Given the description of an element on the screen output the (x, y) to click on. 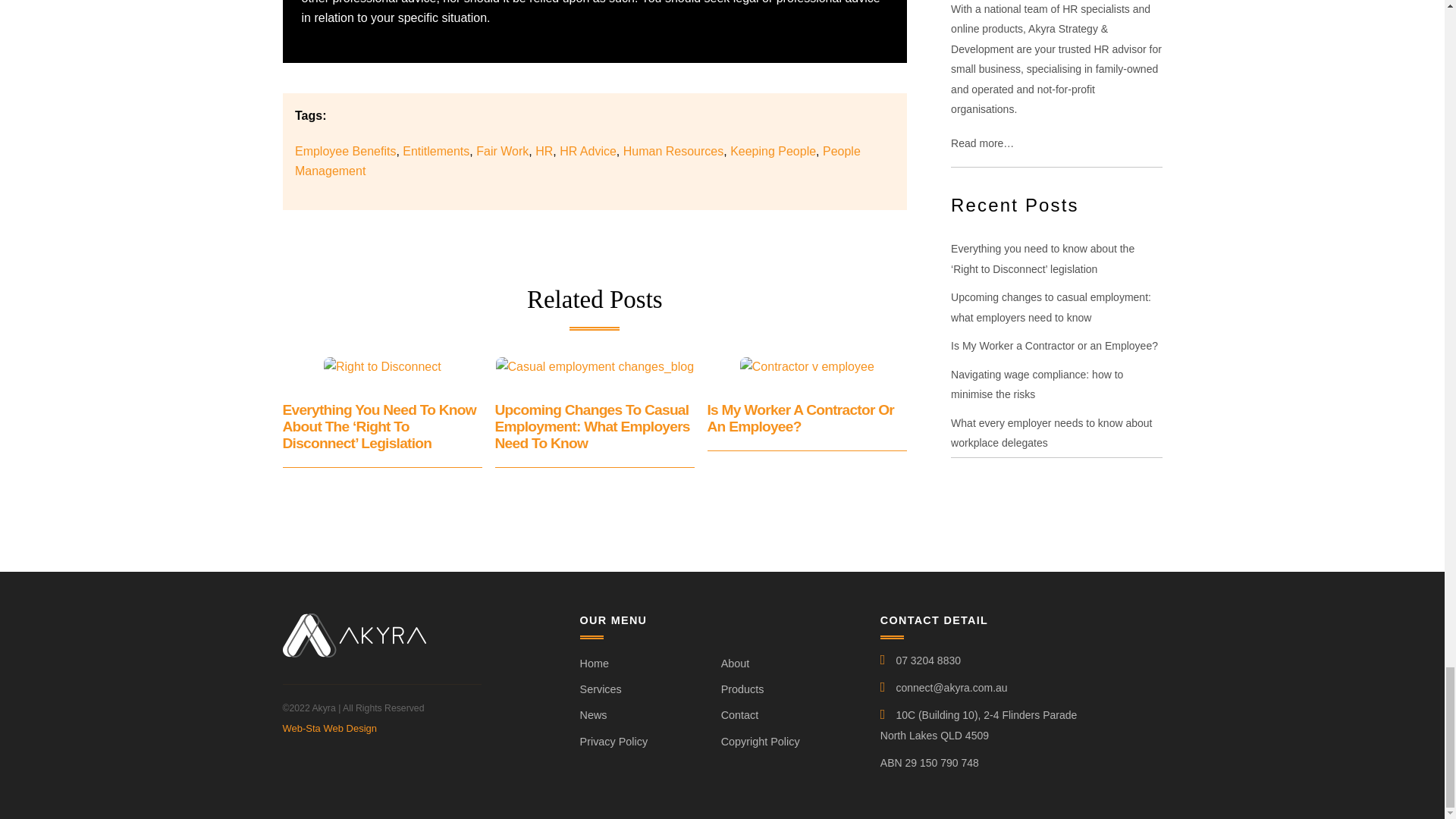
Contractor v employee (807, 366)
Right to Disconnect (382, 366)
Akyra (353, 651)
